Given the description of an element on the screen output the (x, y) to click on. 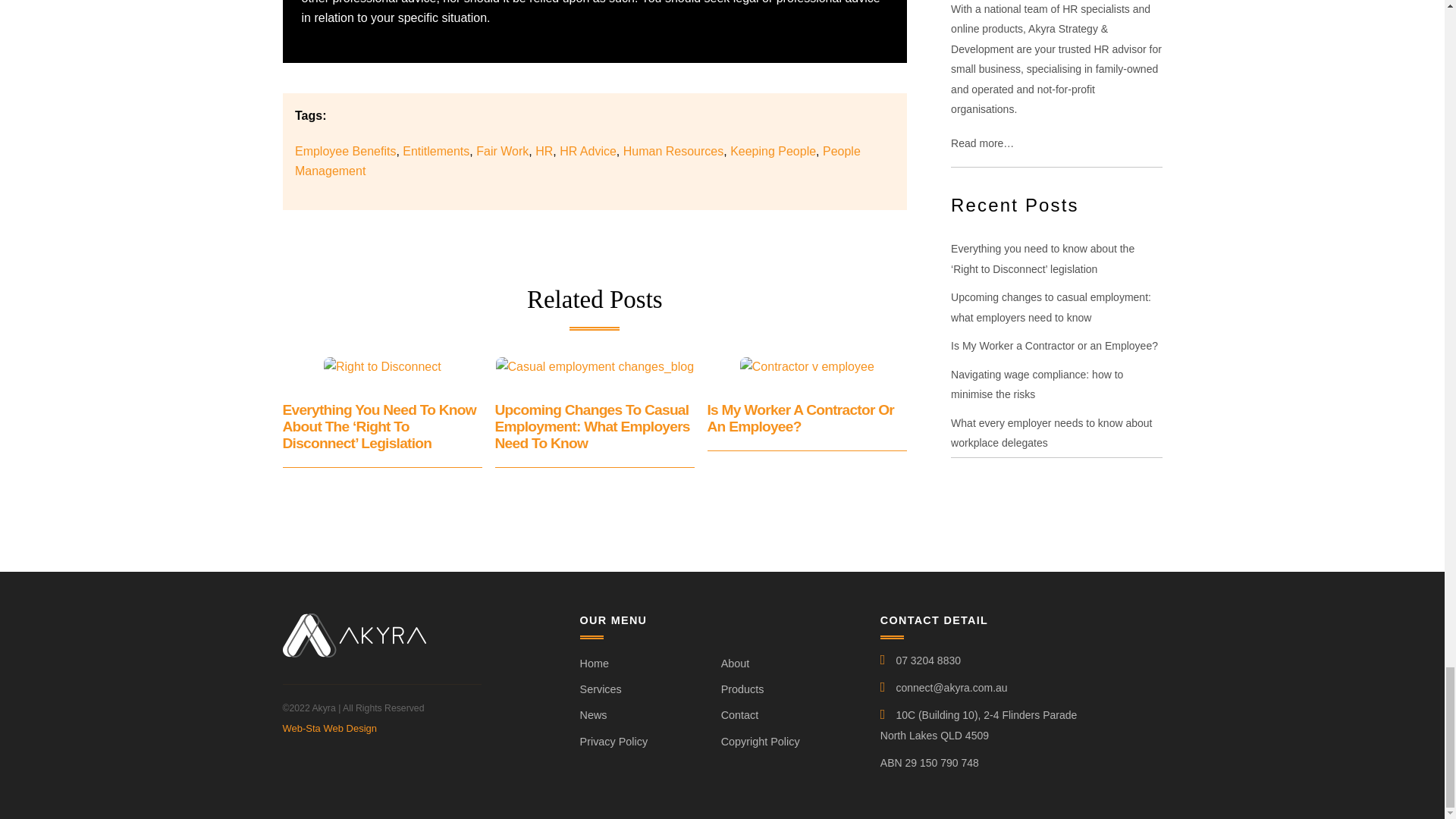
Contractor v employee (807, 366)
Right to Disconnect (382, 366)
Akyra (353, 651)
